Given the description of an element on the screen output the (x, y) to click on. 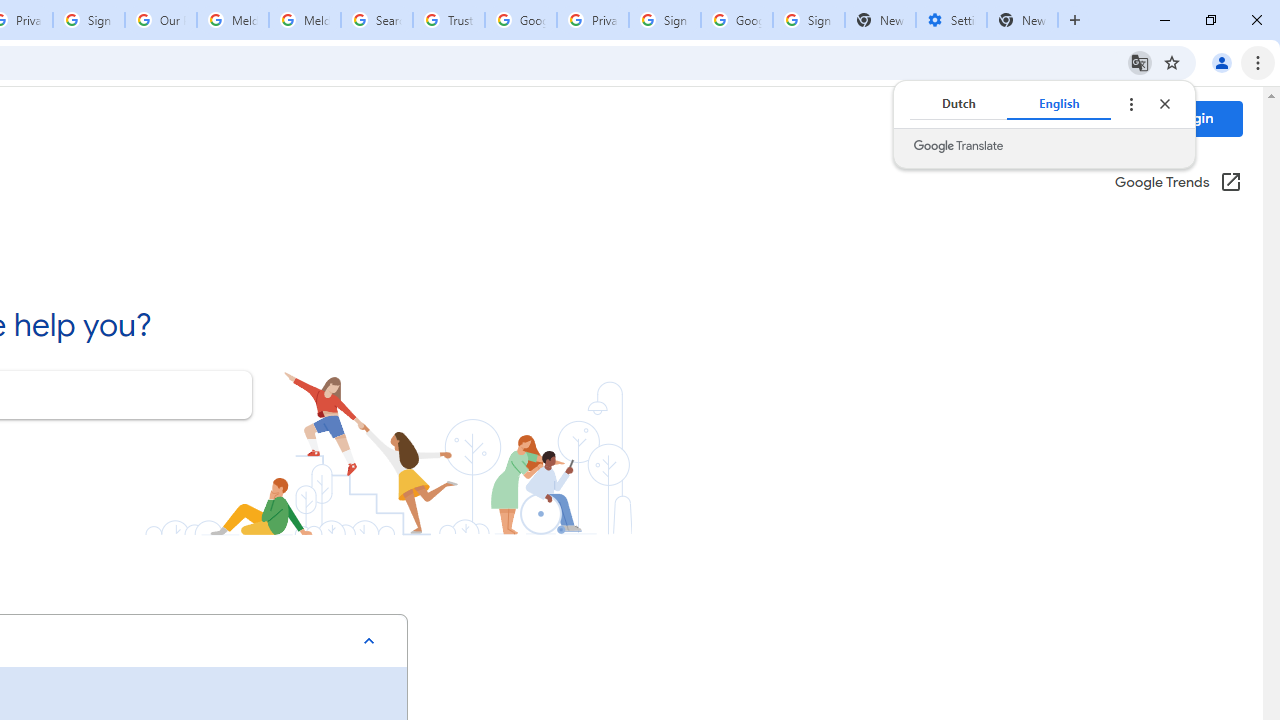
Dutch (958, 103)
Search our Doodle Library Collection - Google Doodles (376, 20)
Google Cybersecurity Innovations - Google Safety Center (737, 20)
English (1059, 103)
Sign in - Google Accounts (664, 20)
Sign in - Google Accounts (808, 20)
Settings - Addresses and more (951, 20)
